Given the description of an element on the screen output the (x, y) to click on. 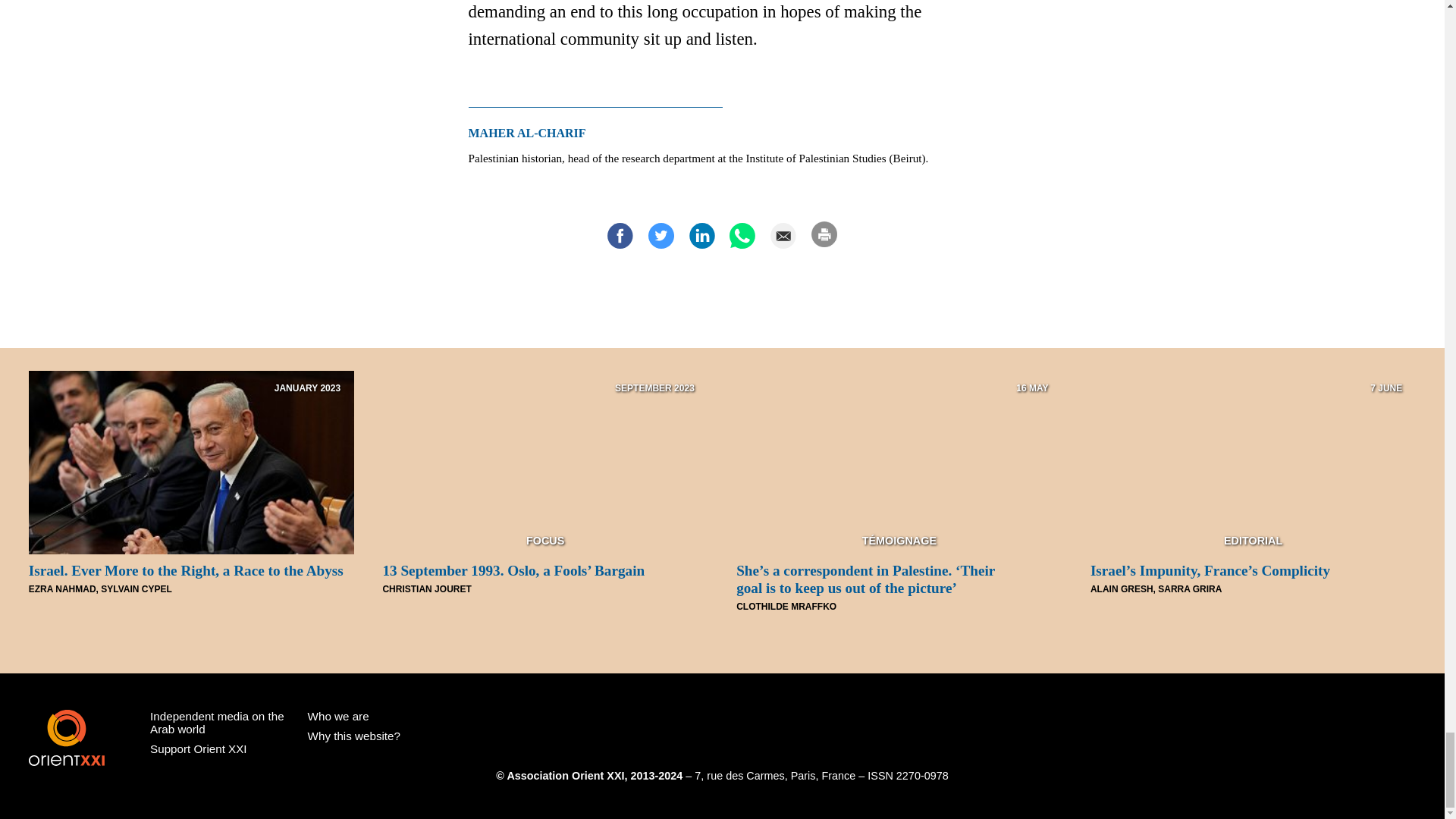
LinkedIn (701, 235)
Whatsapp (742, 235)
Twitter (660, 235)
Mail (782, 235)
Facebook (619, 235)
Imprimer (823, 234)
